Given the description of an element on the screen output the (x, y) to click on. 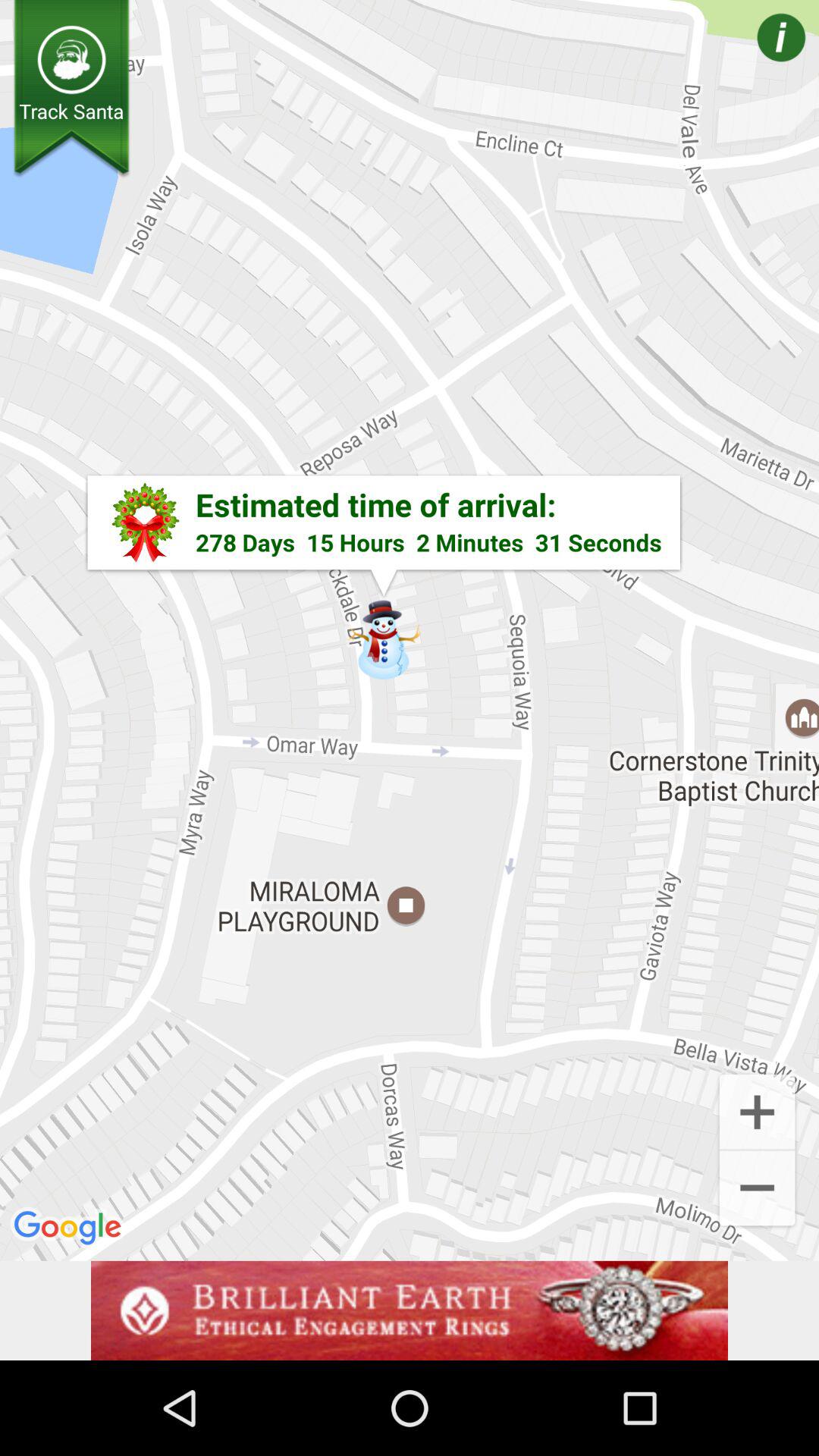
advertisement page (409, 1310)
